Given the description of an element on the screen output the (x, y) to click on. 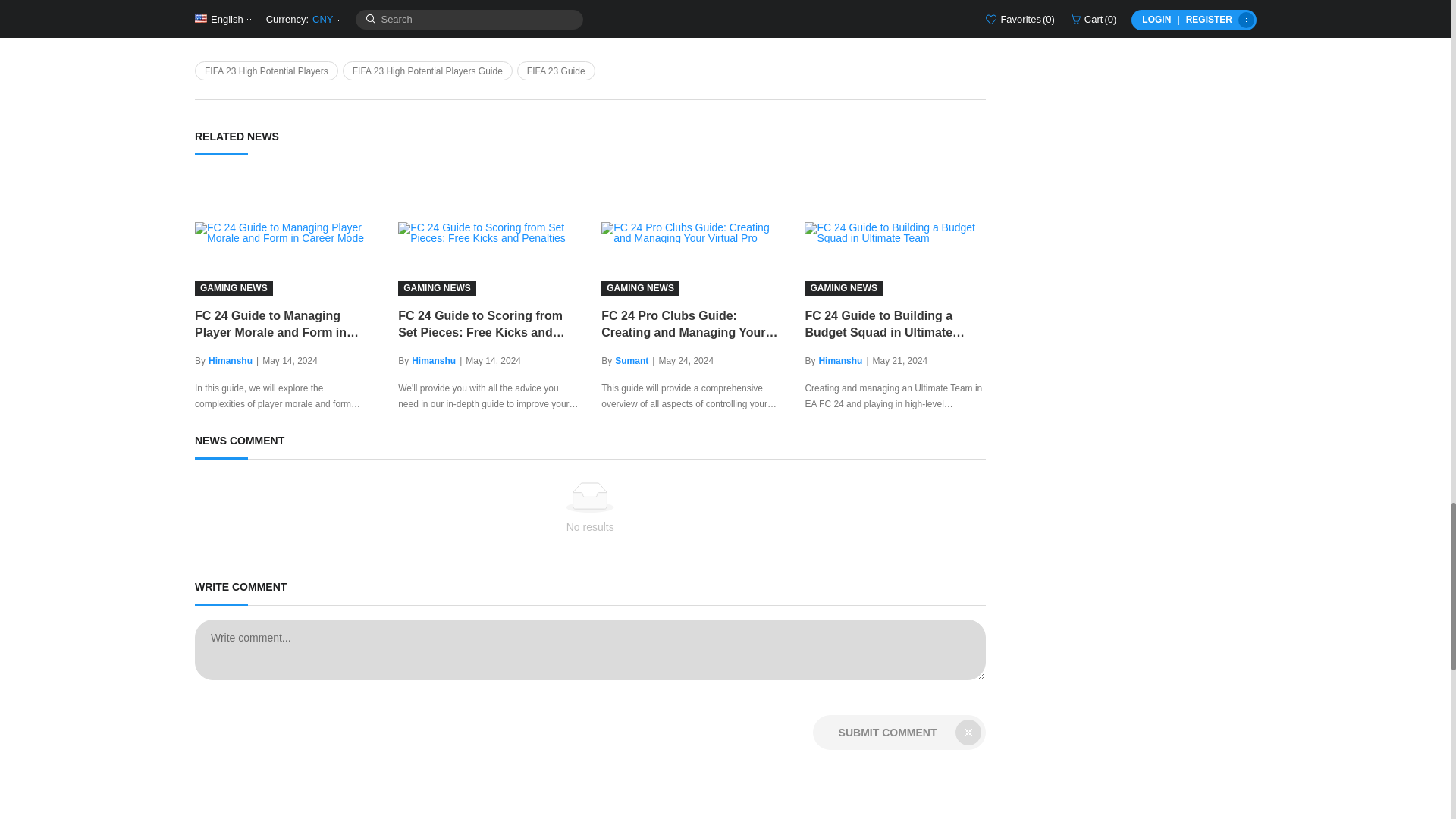
GAMING NEWS (895, 231)
FC 24 Guide to Building a Budget Squad in Ultimate Team (895, 324)
FIFA 23 Guide (555, 70)
Sumant (630, 360)
GAMING NEWS (487, 231)
GAMING NEWS (285, 231)
SUBMIT COMMENT (898, 732)
Himanshu (839, 360)
FIFA 23 High Potential Players Guide (427, 70)
